Given the description of an element on the screen output the (x, y) to click on. 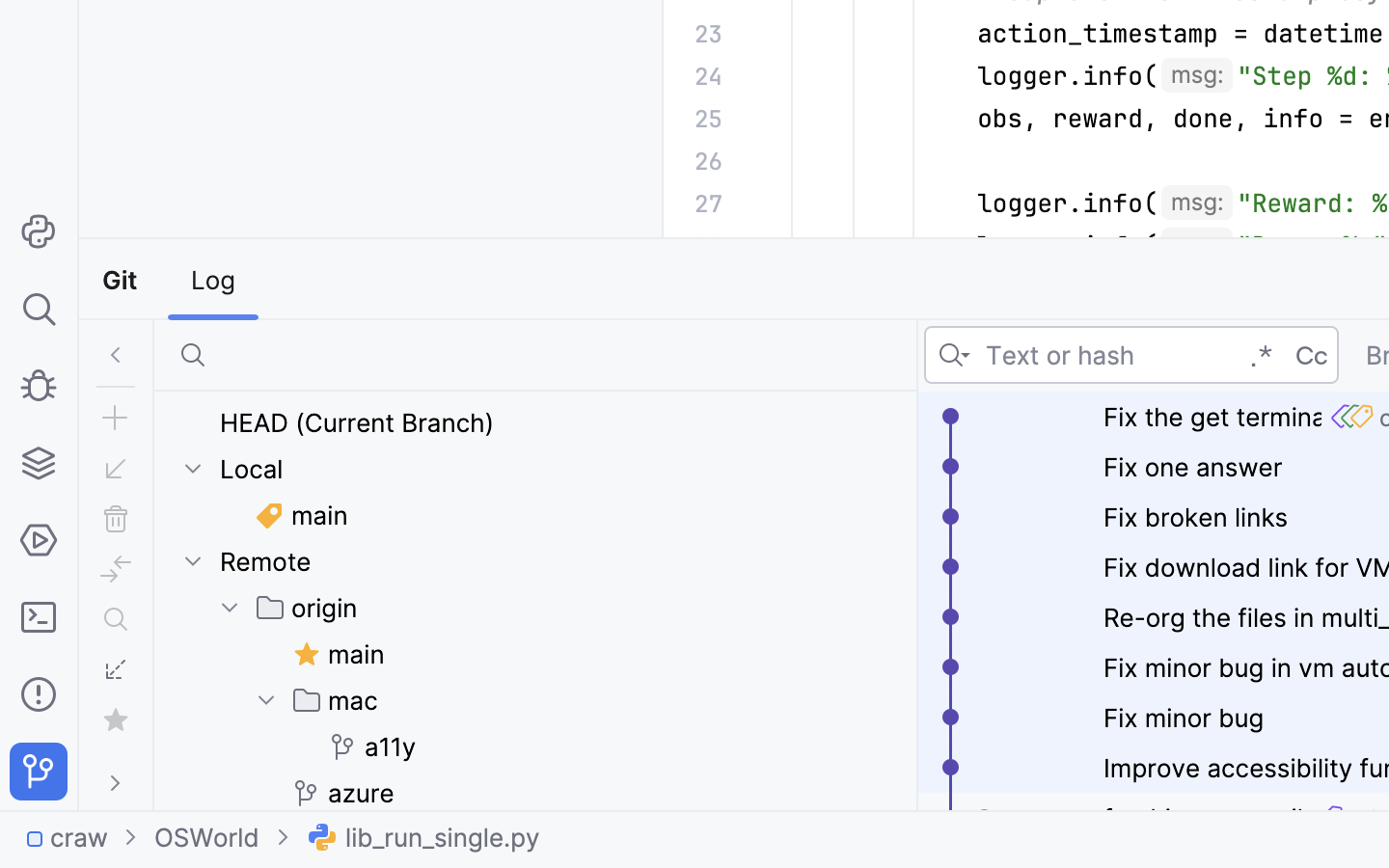
Project Errors Element type: AXStaticText (482, 279)
File

2 Element type: AXStaticText (311, 279)
Vulnerable Dependencies Element type: AXStaticText (1127, 279)
Problems Element type: AXStaticText (163, 279)
